Given the description of an element on the screen output the (x, y) to click on. 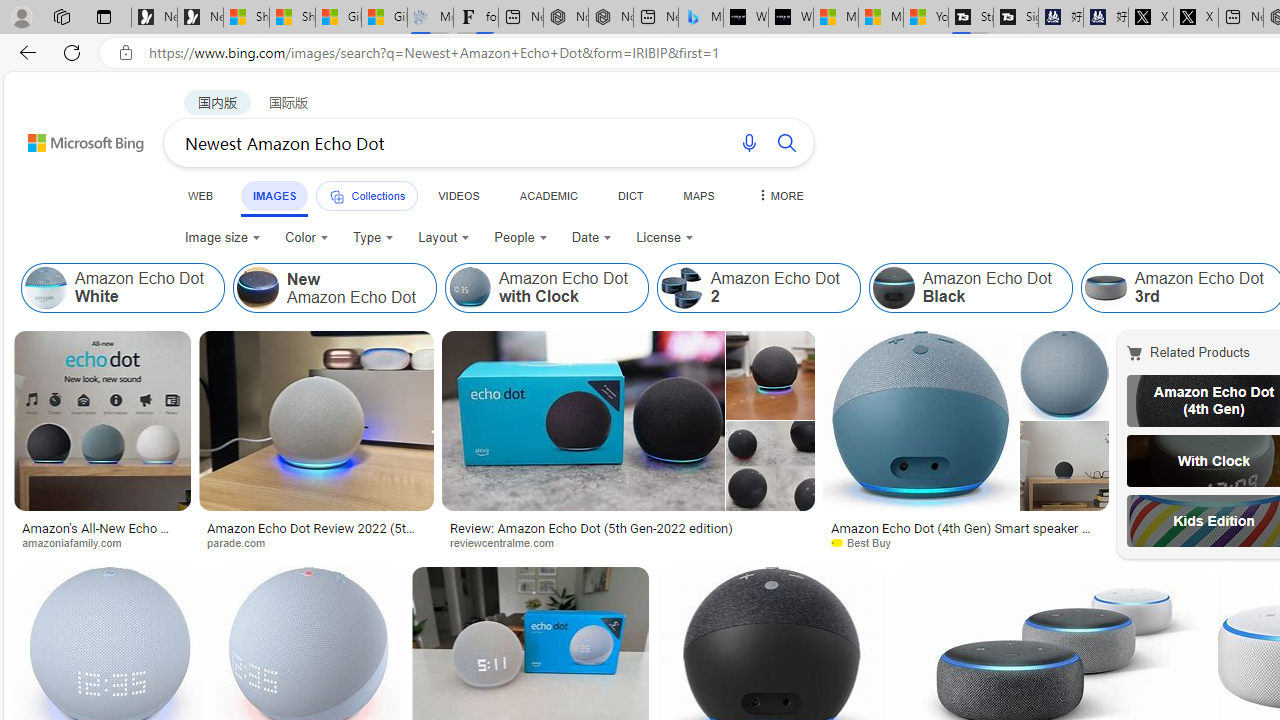
Search button (786, 142)
Amazon Echo Dot with Clock (546, 287)
parade.com (243, 541)
MORE (779, 195)
DICT (630, 195)
Dropdown Menu (779, 195)
Amazon Echo Dot with Clock (469, 287)
Class: b_pri_nav_svg (336, 196)
ACADEMIC (548, 195)
Review: Amazon Echo Dot (5th Gen-2022 edition) (591, 528)
Color (305, 237)
